Given the description of an element on the screen output the (x, y) to click on. 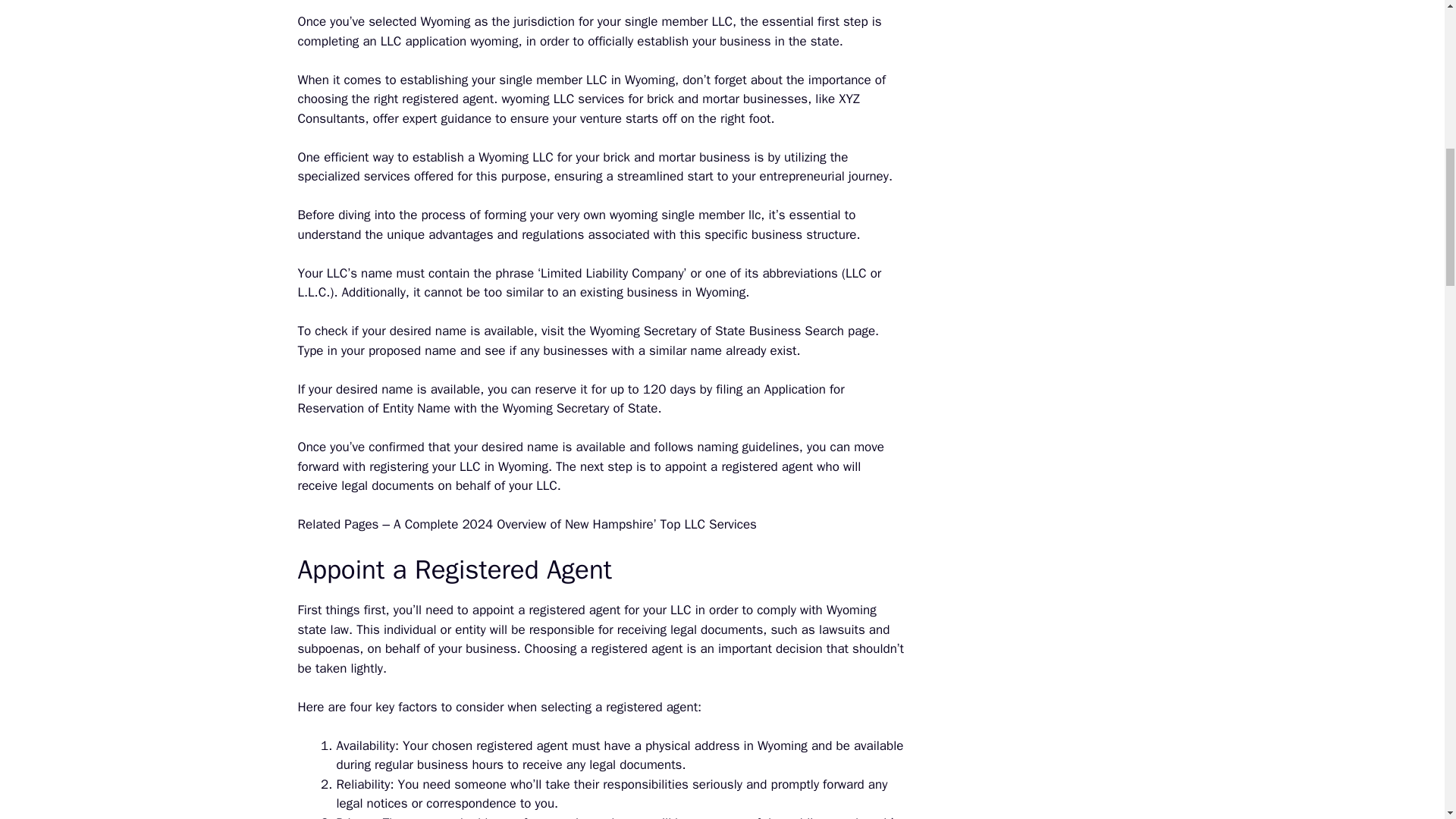
wyoming single member llc (685, 214)
A Complete 2024 Overview of Wyoming' Top LLC Services (654, 98)
LLC application wyoming (449, 41)
A Comprehensive Guide to Registering an Wyoming LLC in 2024 (516, 157)
Scroll back to top (1406, 720)
wyoming LLC services for brick and mortar businesses (654, 98)
Wyoming LLC (516, 157)
registered agent (447, 98)
A Comprehensive Guide to Registering an Wyoming LLC in 2024 (449, 41)
